Given the description of an element on the screen output the (x, y) to click on. 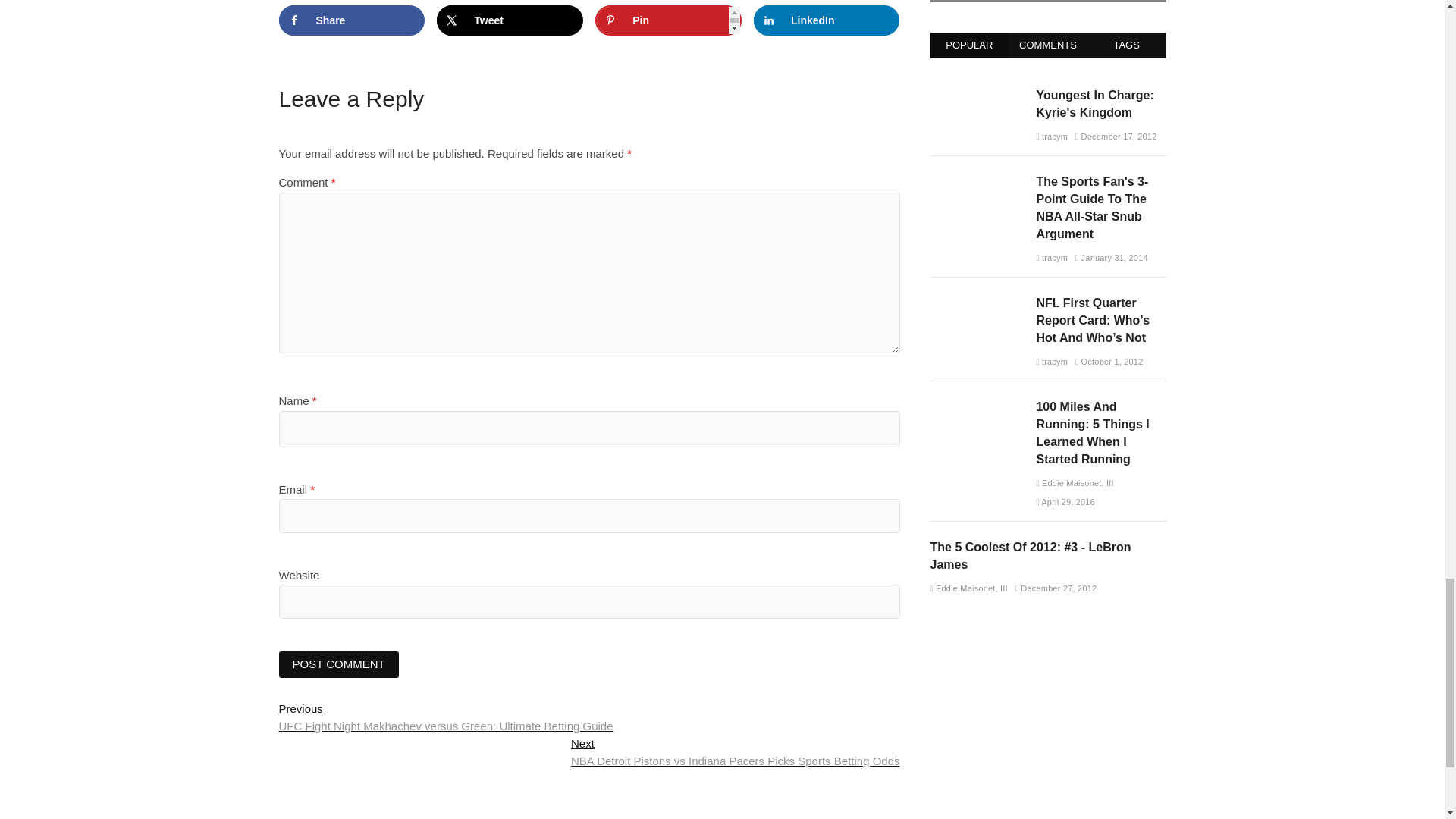
Share on X (509, 20)
Post Comment (338, 664)
Share on LinkedIn (826, 20)
Save to Pinterest (668, 20)
Share on Facebook (352, 20)
